Given the description of an element on the screen output the (x, y) to click on. 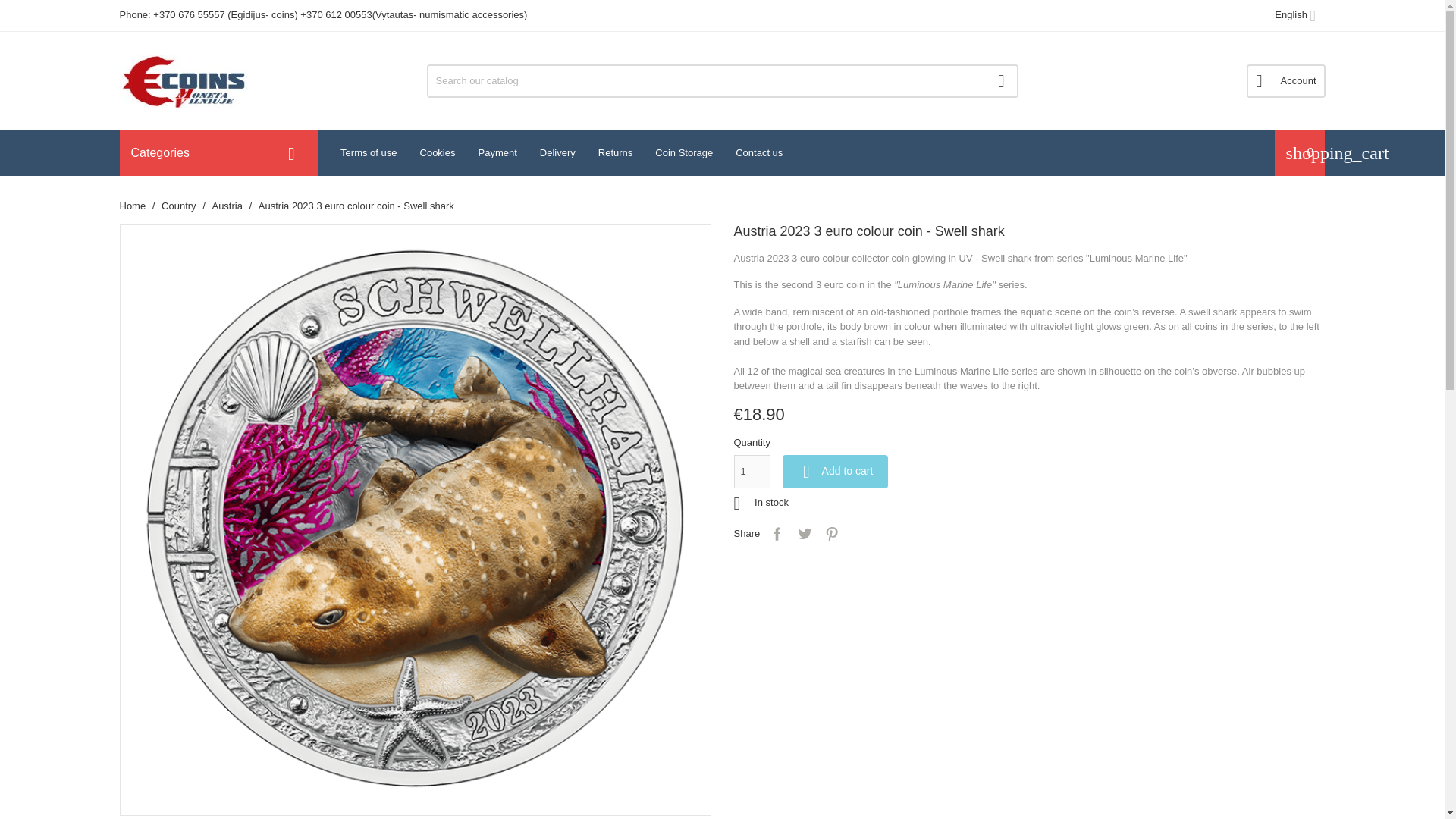
Share (777, 533)
Tweet (803, 533)
Pinterest (831, 533)
1 (751, 471)
